Given the description of an element on the screen output the (x, y) to click on. 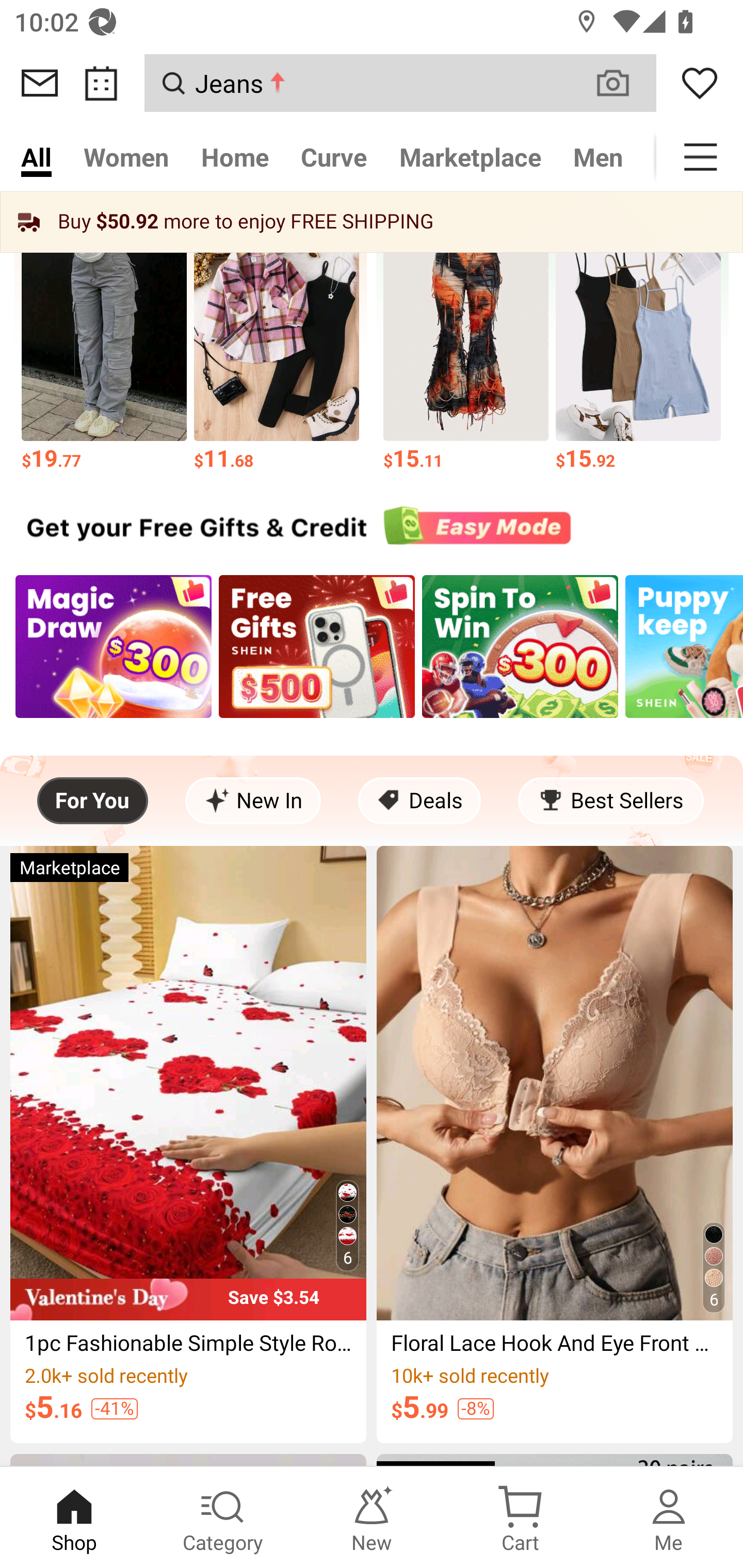
Wishlist (699, 82)
VISUAL SEARCH (623, 82)
All (36, 156)
Women (126, 156)
Home (234, 156)
Curve (333, 156)
Marketplace (470, 156)
Men (597, 156)
Buy $50.92 more to enjoy FREE SHIPPING (371, 221)
$19.77 Price $19.77 (103, 347)
$11.68 Price $11.68 (276, 347)
$15.11 Price $15.11 (465, 347)
$15.92 Price $15.92 (638, 347)
New In (252, 800)
Deals (419, 800)
Best Sellers (610, 800)
Category (222, 1517)
New (371, 1517)
Cart (519, 1517)
Me (668, 1517)
